Given the description of an element on the screen output the (x, y) to click on. 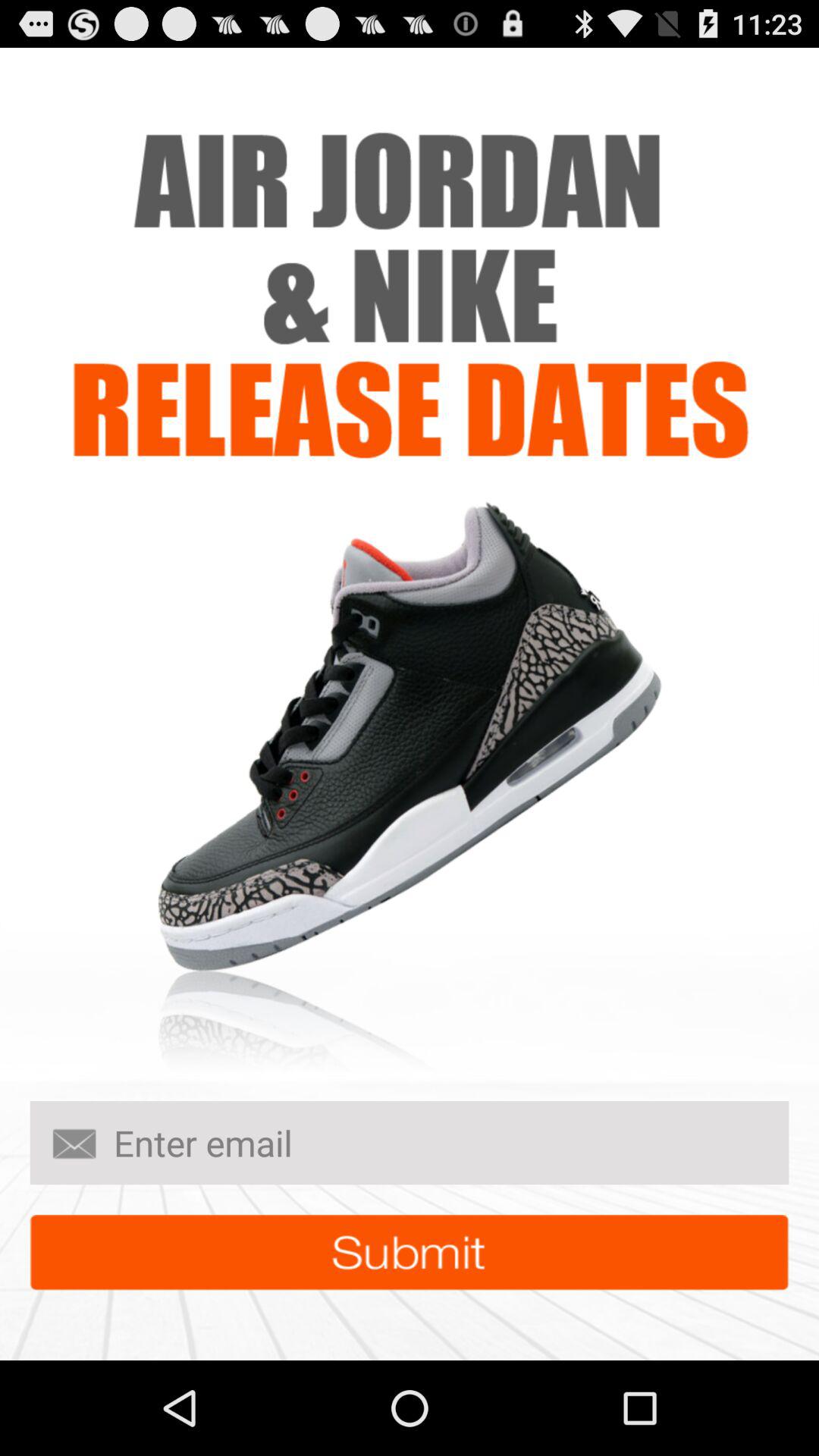
submit input button (409, 1252)
